Given the description of an element on the screen output the (x, y) to click on. 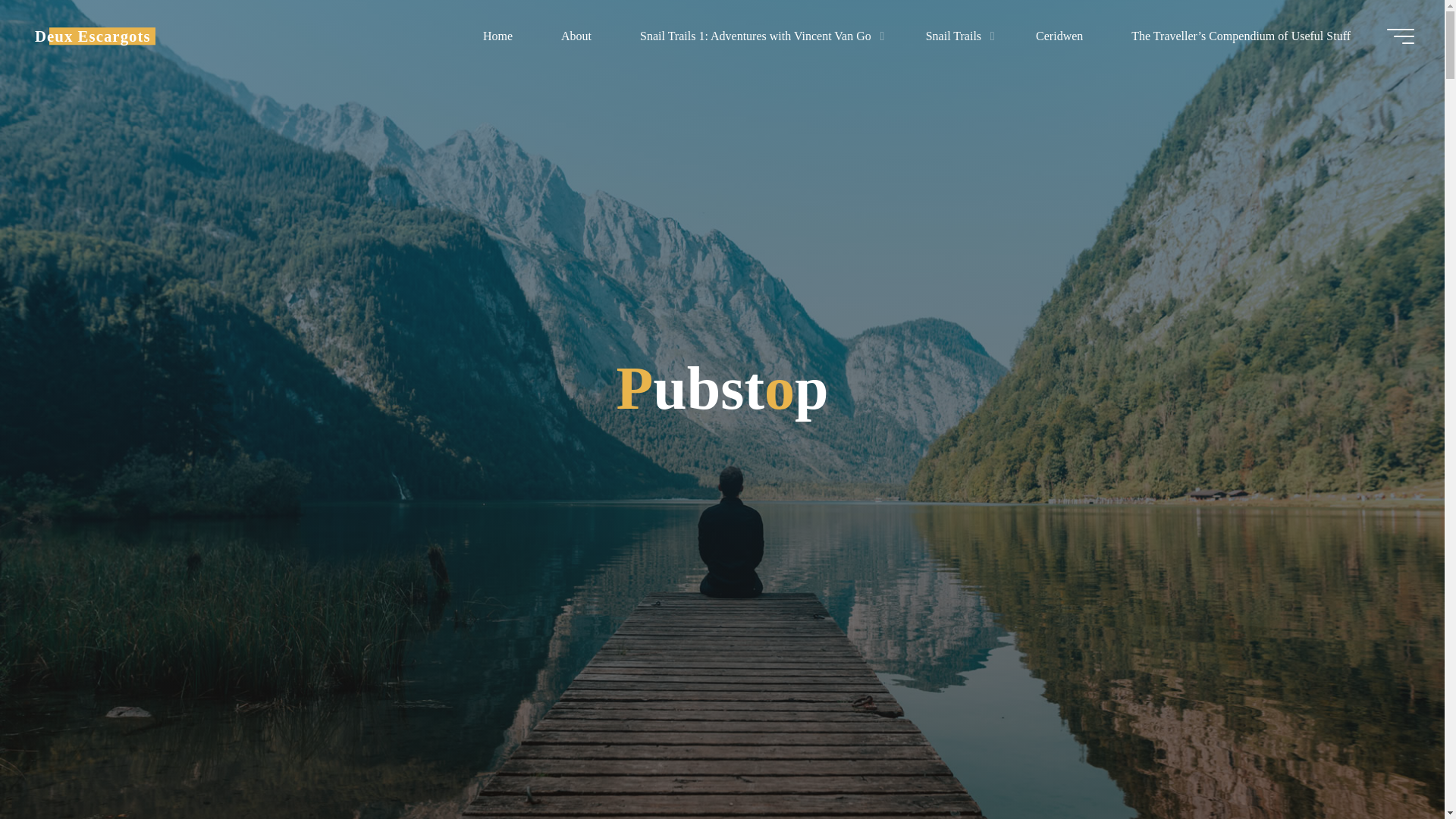
Ceridwen (1058, 35)
Snail Trails (956, 35)
Home (497, 35)
Deux Escargots (92, 36)
Snail Trails 1: Adventures with Vincent Van Go (758, 35)
About (576, 35)
Read more (721, 724)
